Given the description of an element on the screen output the (x, y) to click on. 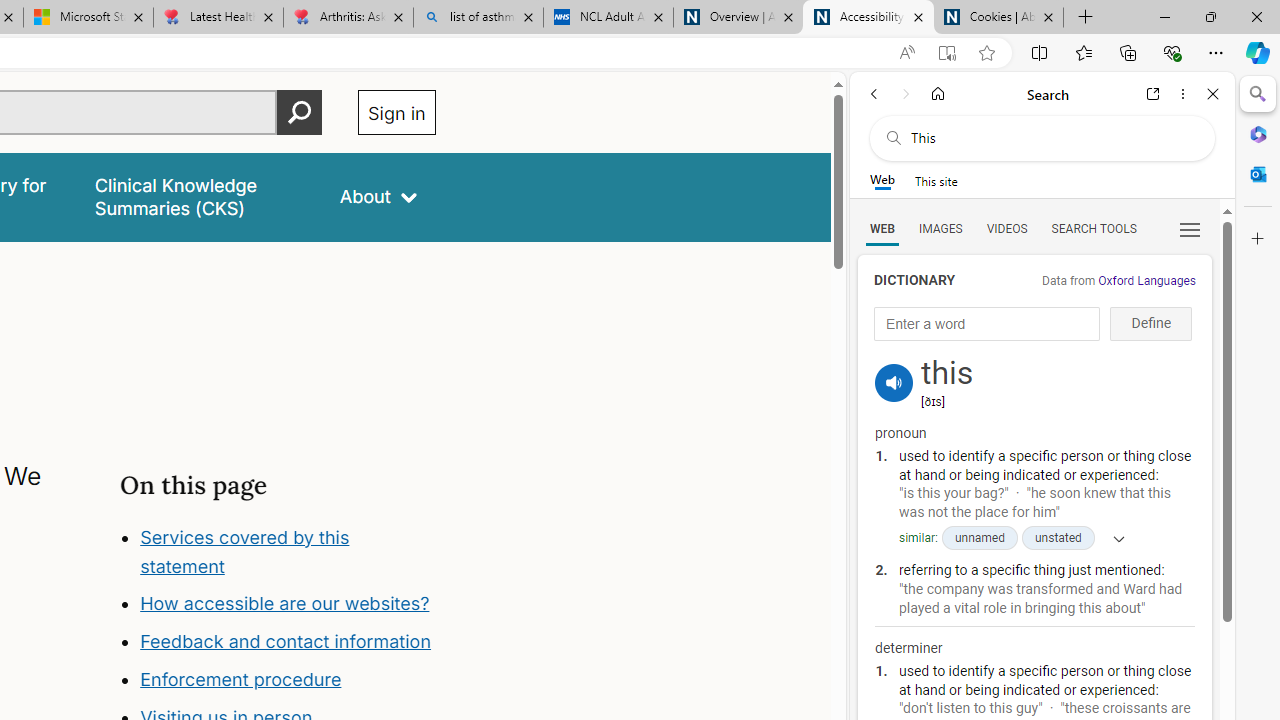
Sign in (396, 112)
Close Customize pane (1258, 239)
Perform search (299, 112)
About (378, 196)
list of asthma inhalers uk - Search (477, 17)
pronounce (893, 382)
Enter a word (987, 323)
